Given the description of an element on the screen output the (x, y) to click on. 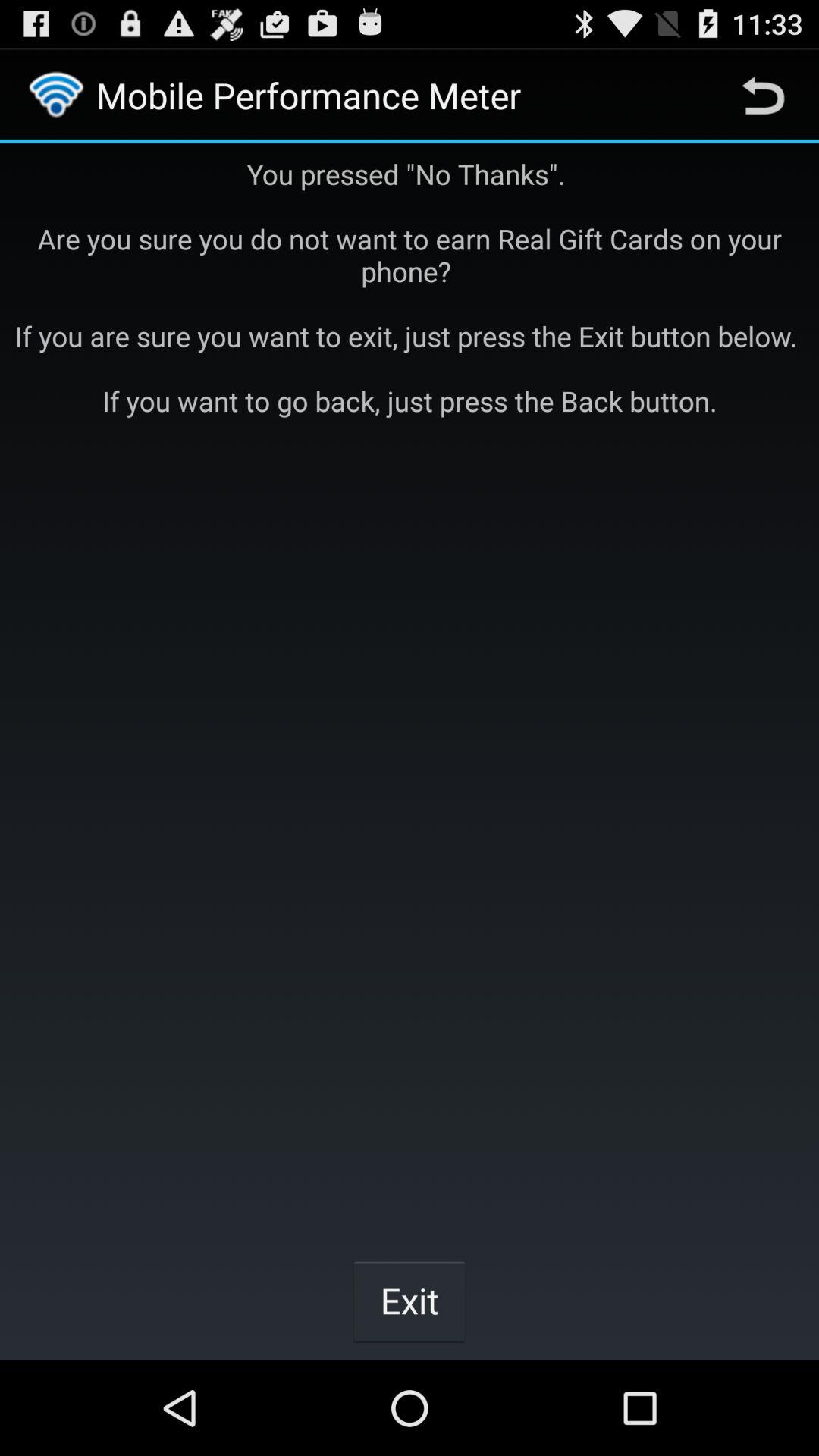
open app next to mobile performance meter app (763, 95)
